Given the description of an element on the screen output the (x, y) to click on. 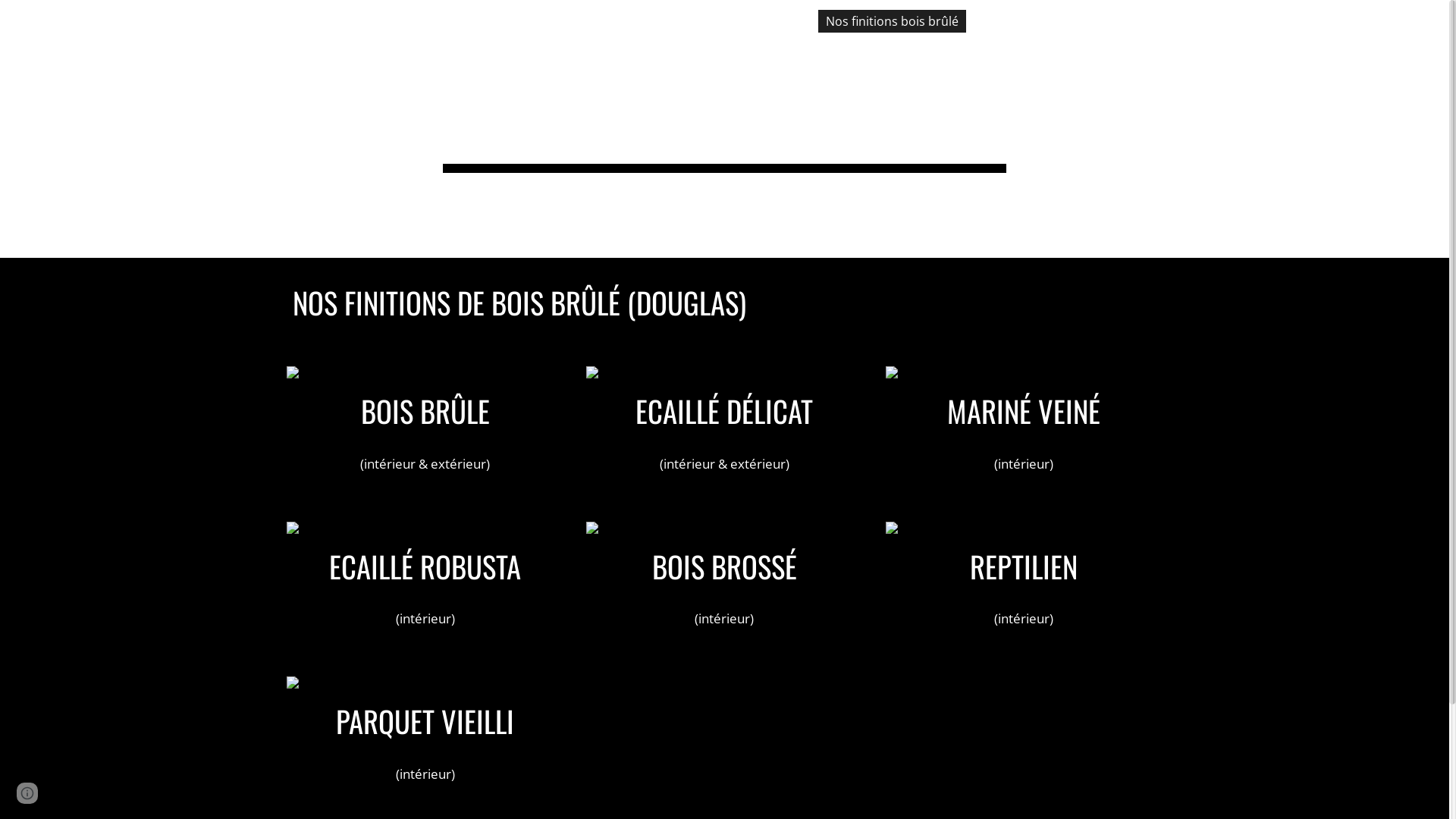
Contacts Element type: text (1262, 20)
Accueil Element type: text (779, 20)
Nos bois de terrasse Element type: text (1043, 20)
